Given the description of an element on the screen output the (x, y) to click on. 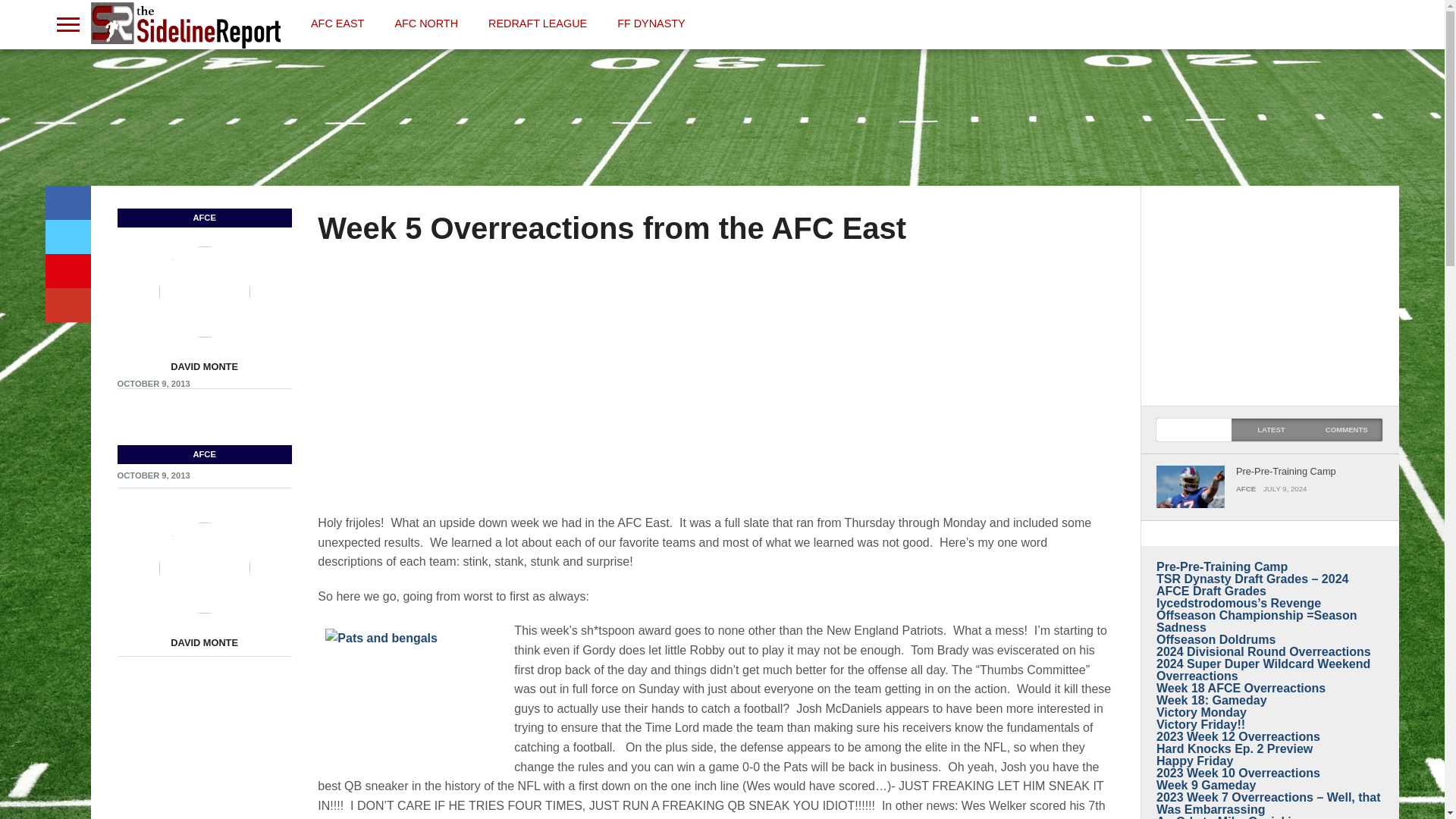
DAVID MONTE (204, 366)
Posts by David Monte (204, 366)
AFC NORTH (425, 23)
FF DYNASTY (651, 23)
Posts by David Monte (204, 642)
DAVID MONTE (204, 642)
AFC EAST (336, 23)
Advertisement (721, 120)
Tweet This Post (67, 236)
Share on Facebook (67, 202)
Pin This Post (67, 270)
REDRAFT LEAGUE (537, 23)
